Given the description of an element on the screen output the (x, y) to click on. 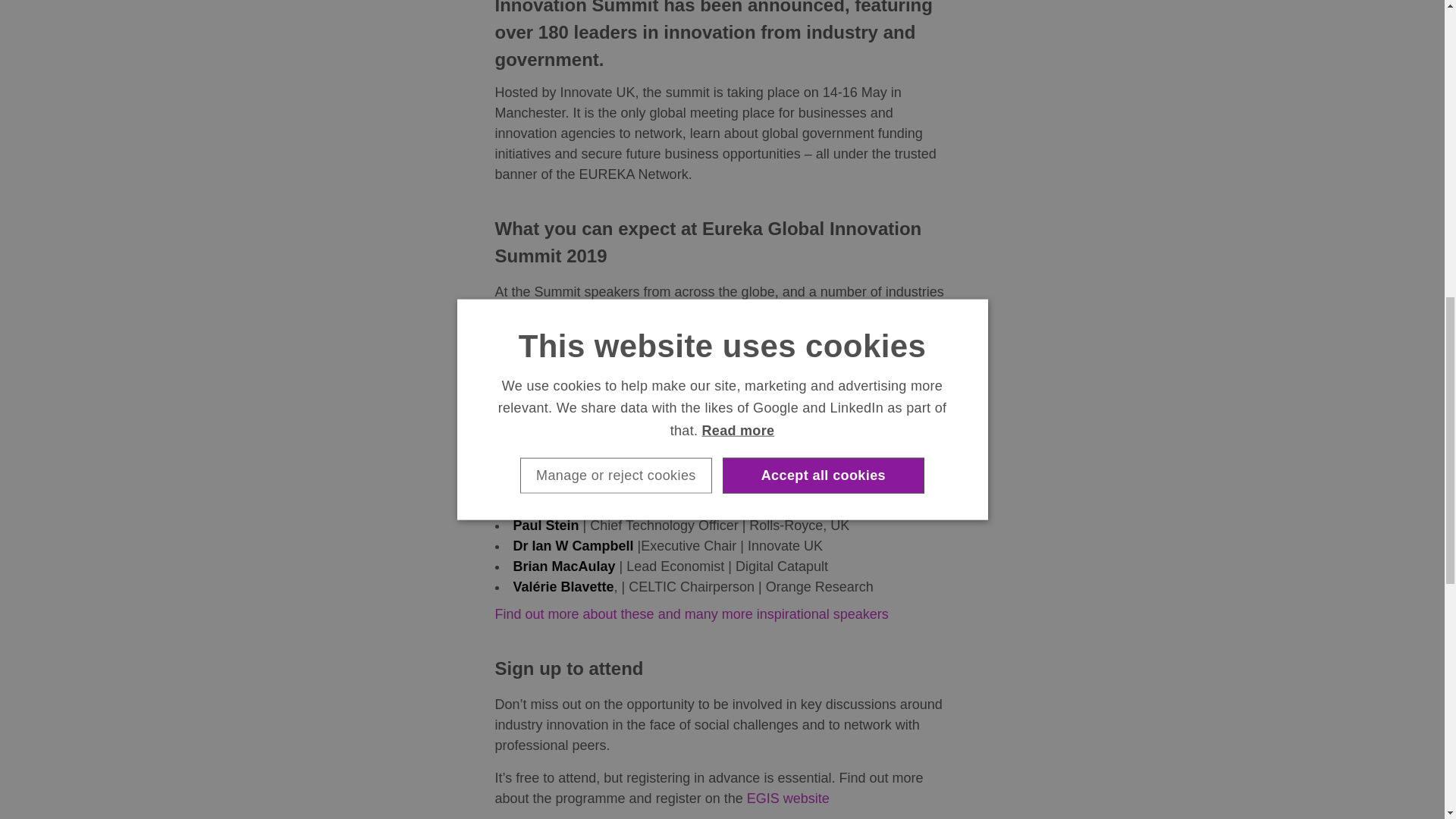
EGIS website (787, 798)
